Given the description of an element on the screen output the (x, y) to click on. 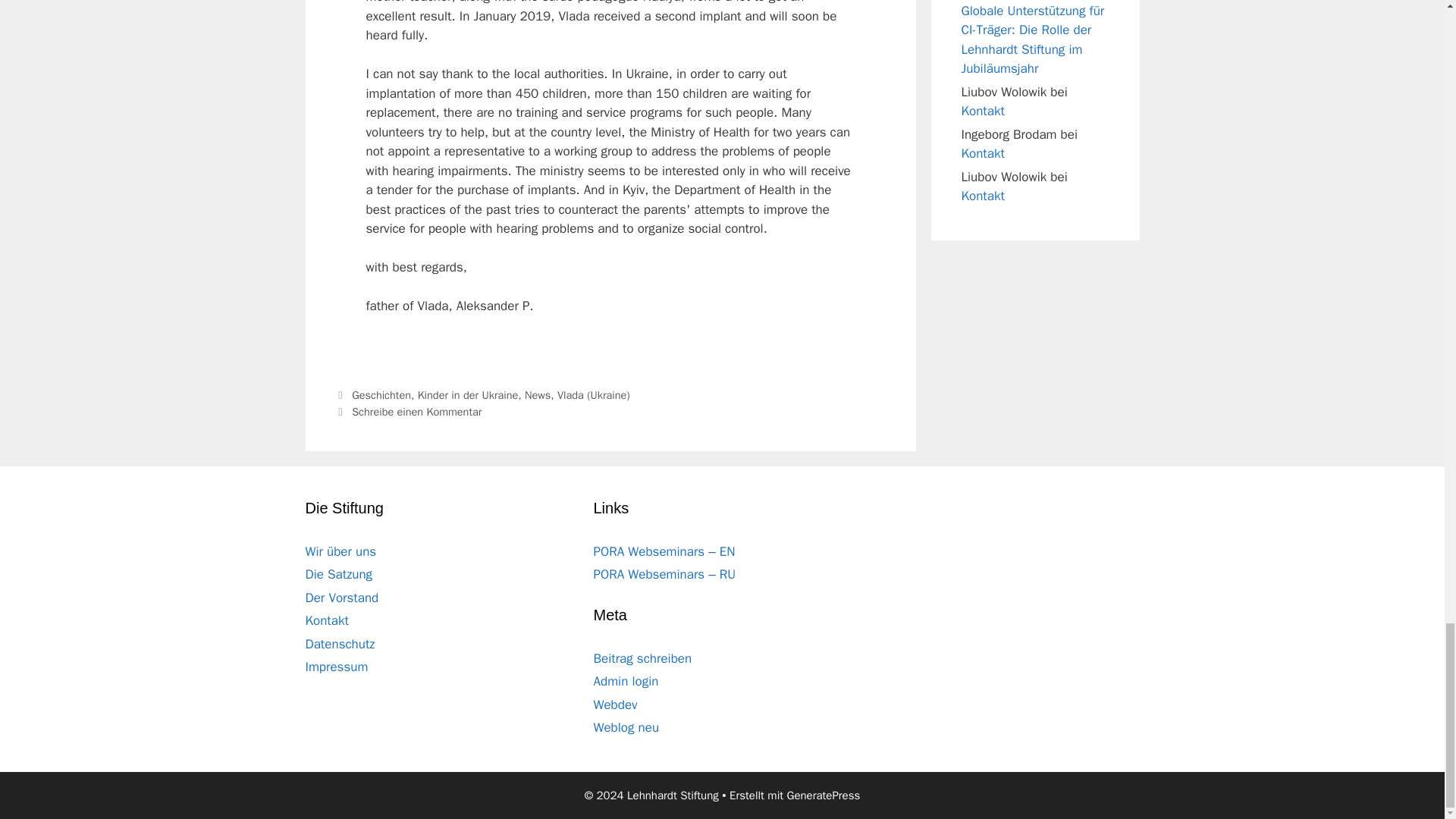
Schreibe einen Kommentar (416, 411)
Kinder in der Ukraine (467, 395)
News (537, 395)
Geschichten (381, 395)
